Given the description of an element on the screen output the (x, y) to click on. 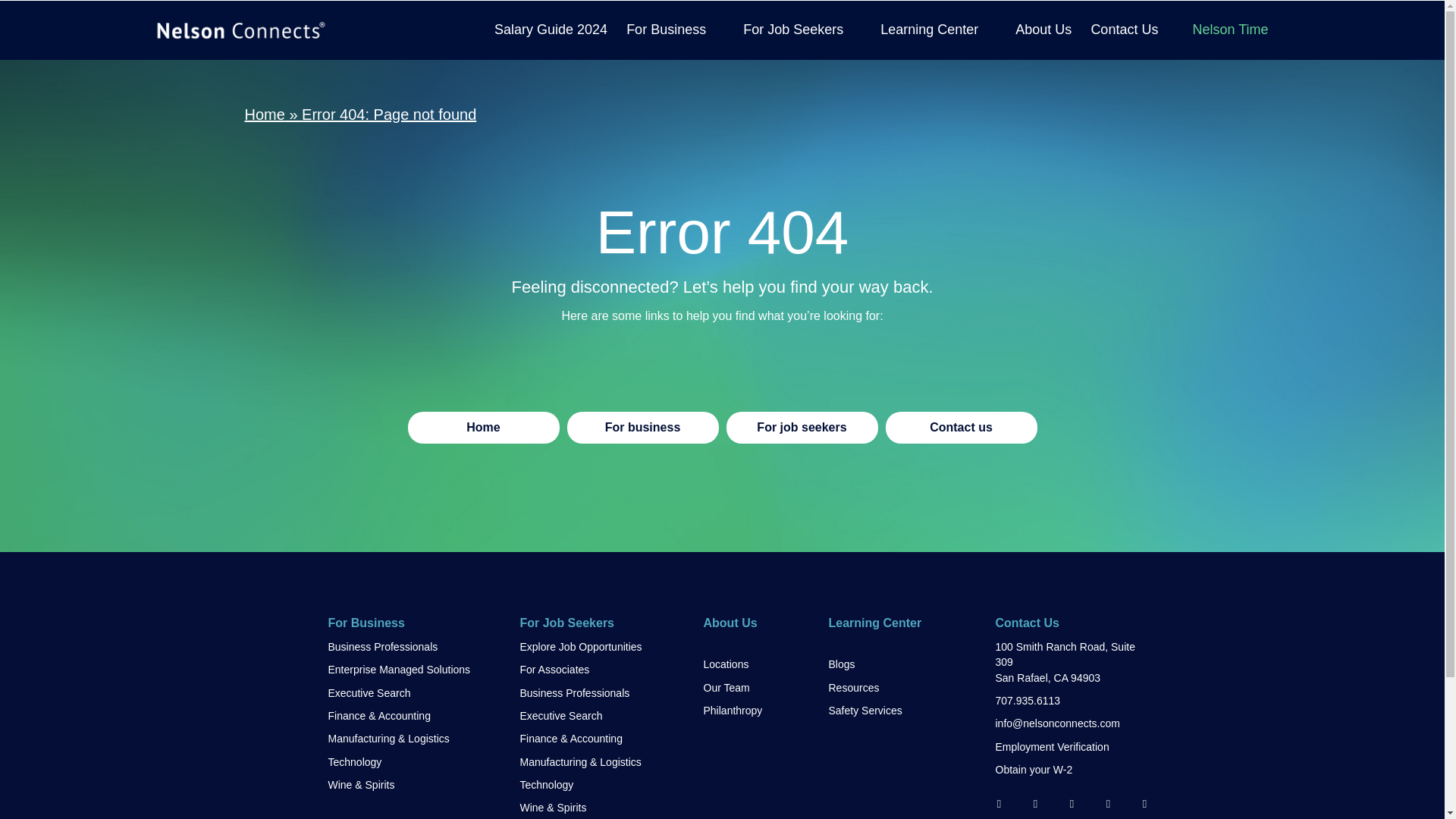
Email (998, 803)
Learning Center (938, 29)
Nelson Time (1230, 29)
For Business (675, 29)
For Job Seekers (802, 29)
Salary Guide 2024 (550, 29)
Contact Us (1124, 29)
Instagram (1144, 803)
About Us (1042, 29)
